Given the description of an element on the screen output the (x, y) to click on. 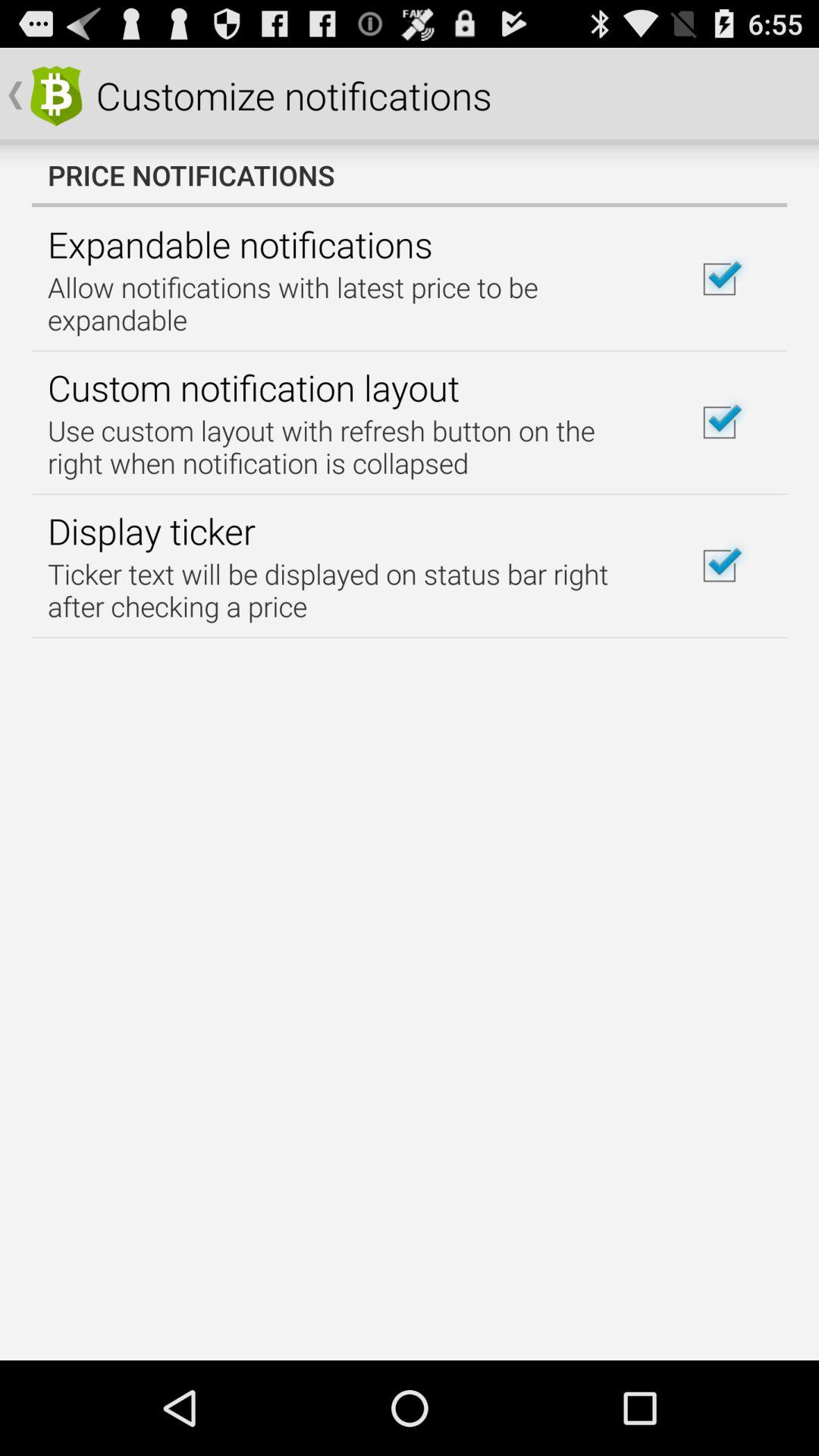
tap item above the ticker text will (151, 530)
